Given the description of an element on the screen output the (x, y) to click on. 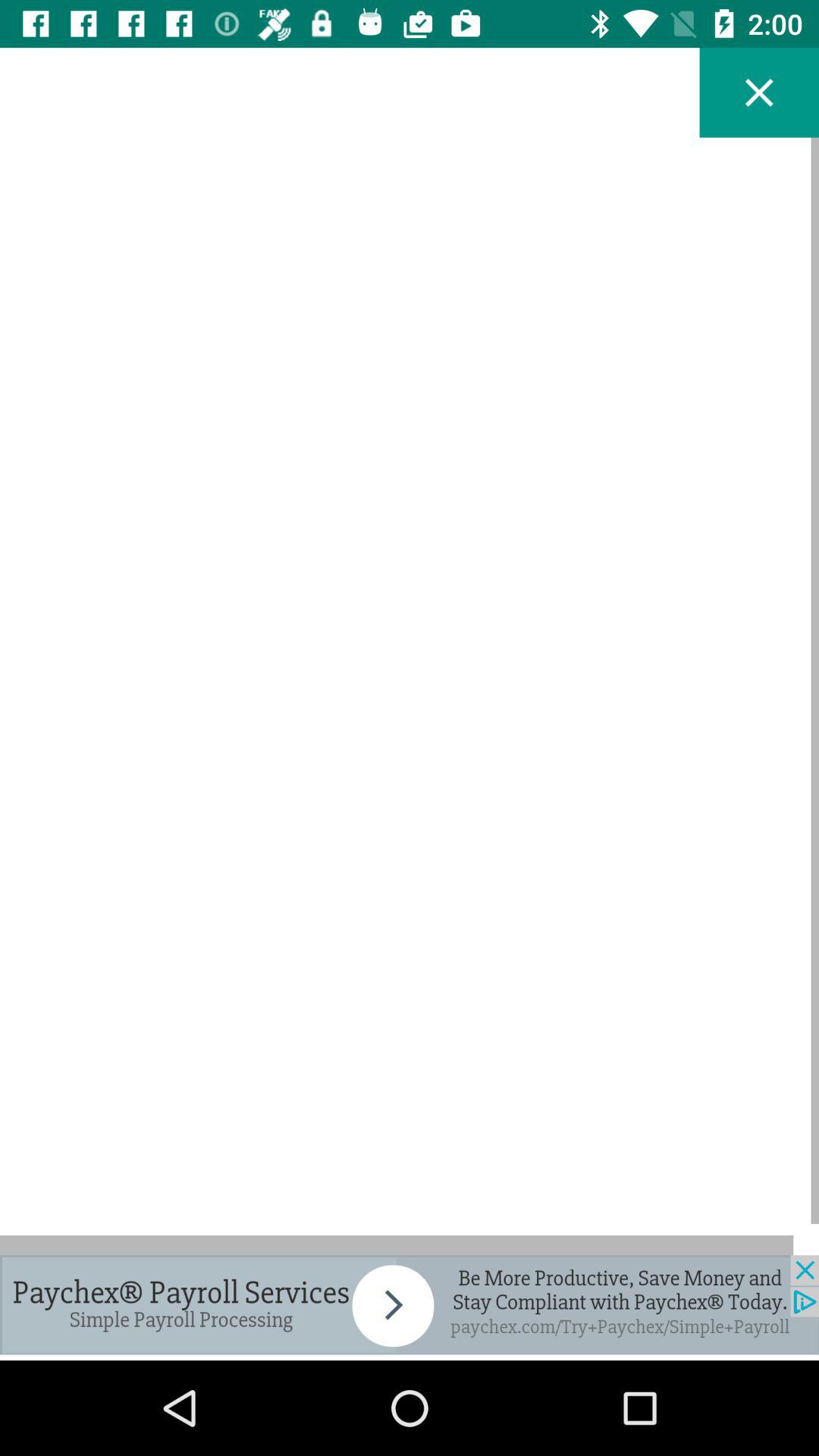
close screen (759, 92)
